Given the description of an element on the screen output the (x, y) to click on. 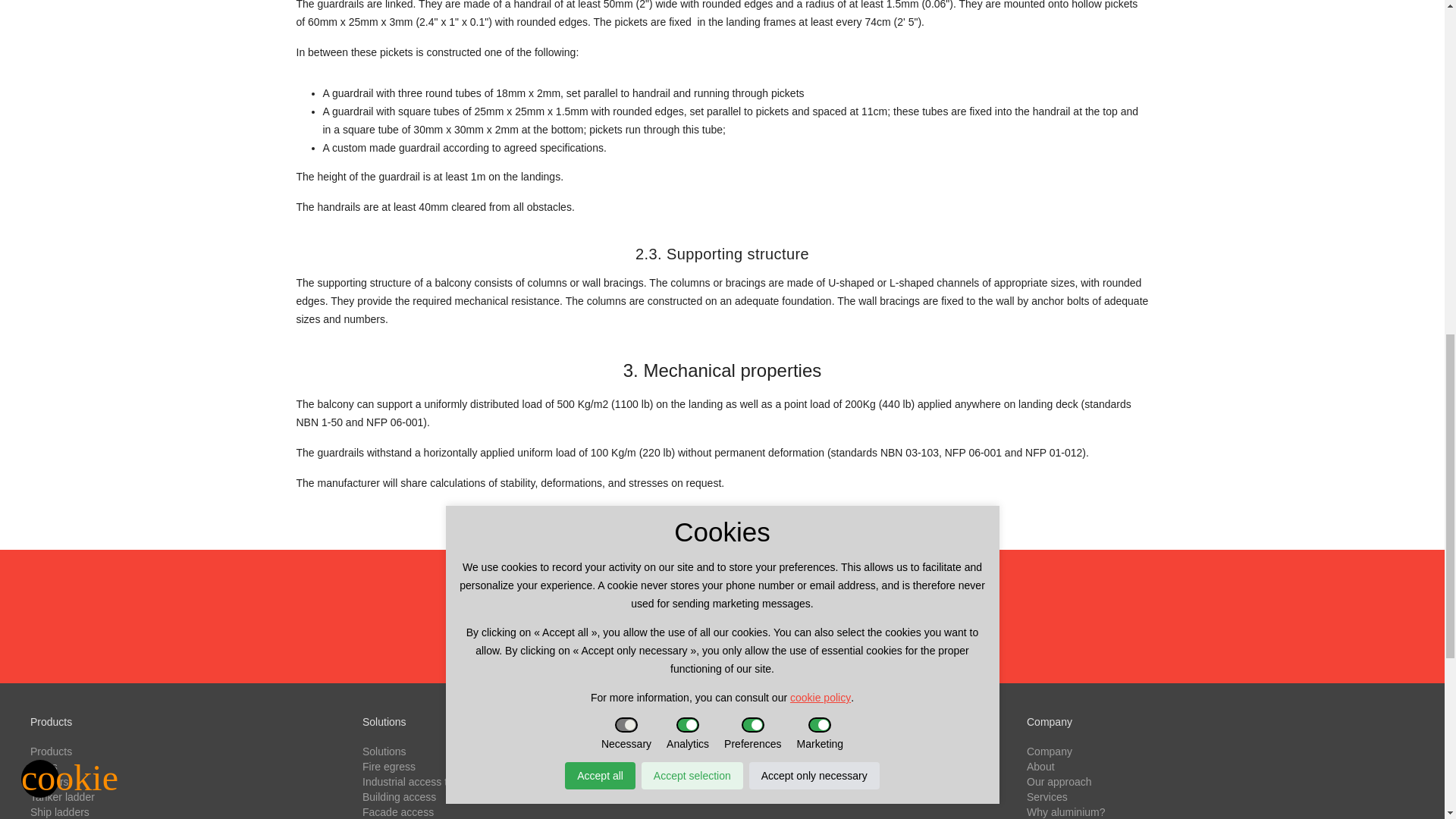
Ship ladders (59, 811)
REQUEST PRICING (722, 615)
Resources (719, 751)
REQUEST PRICING (722, 615)
Products (50, 751)
Industrial access to heights (426, 781)
Building access (398, 797)
Ladders (49, 781)
Fire egress (388, 766)
Tanker ladder (62, 797)
